Given the description of an element on the screen output the (x, y) to click on. 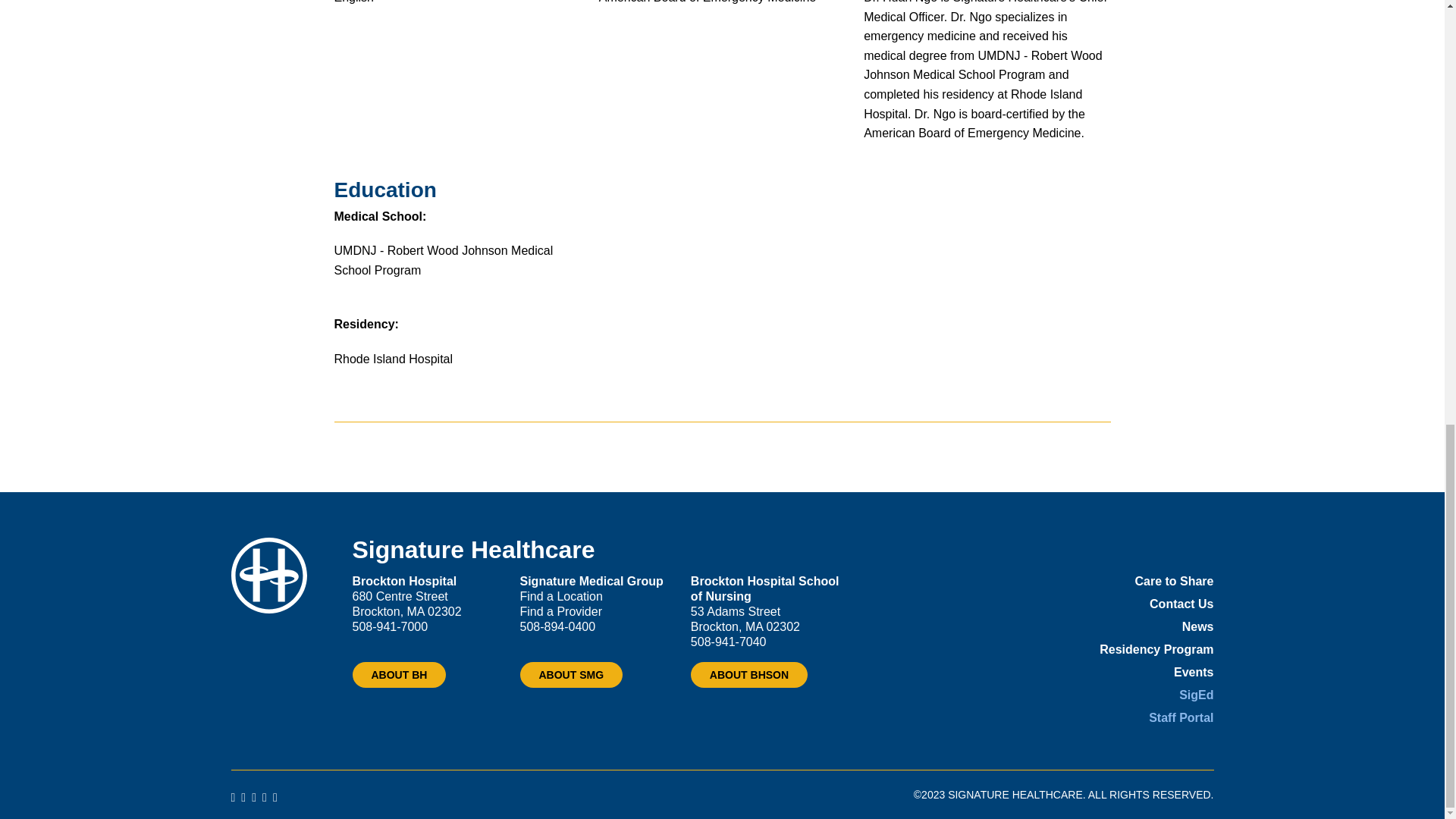
Contact Us (1181, 603)
ABOUT SMG (571, 674)
Find a Location (560, 595)
ABOUT BHSON (749, 674)
Care to Share (1173, 581)
Find a Provider (560, 611)
ABOUT BH (398, 674)
